Given the description of an element on the screen output the (x, y) to click on. 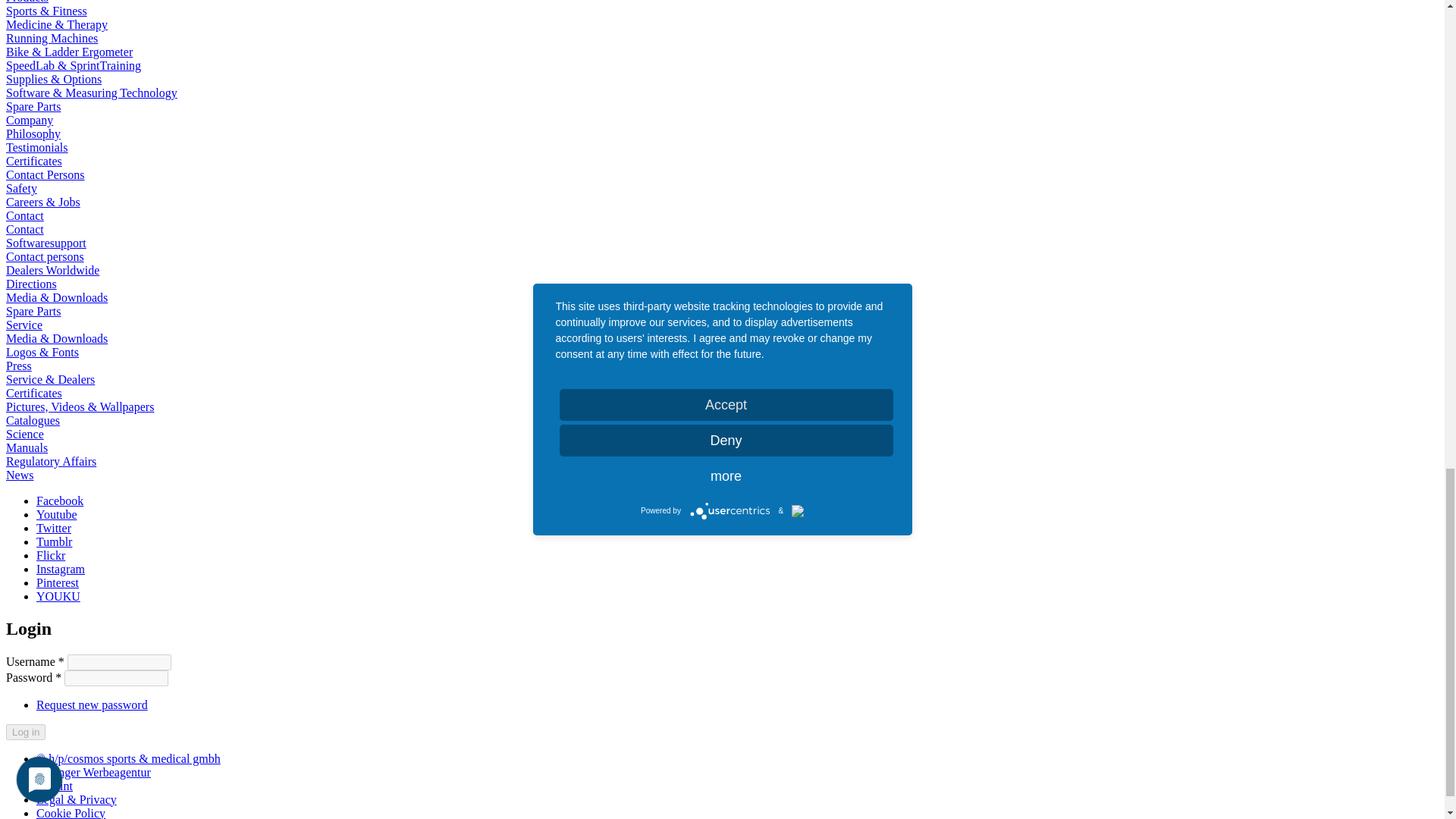
Request new password via e-mail. (92, 703)
Testimonials (36, 146)
Spare Parts (33, 106)
Contact Persons (44, 174)
Certificates (33, 160)
Contact (24, 215)
Hofinger Werbeagentur (93, 771)
Safety (21, 187)
Products (26, 2)
Philosophy (33, 133)
Log in (25, 731)
Running Machines (51, 38)
Company (28, 119)
